Given the description of an element on the screen output the (x, y) to click on. 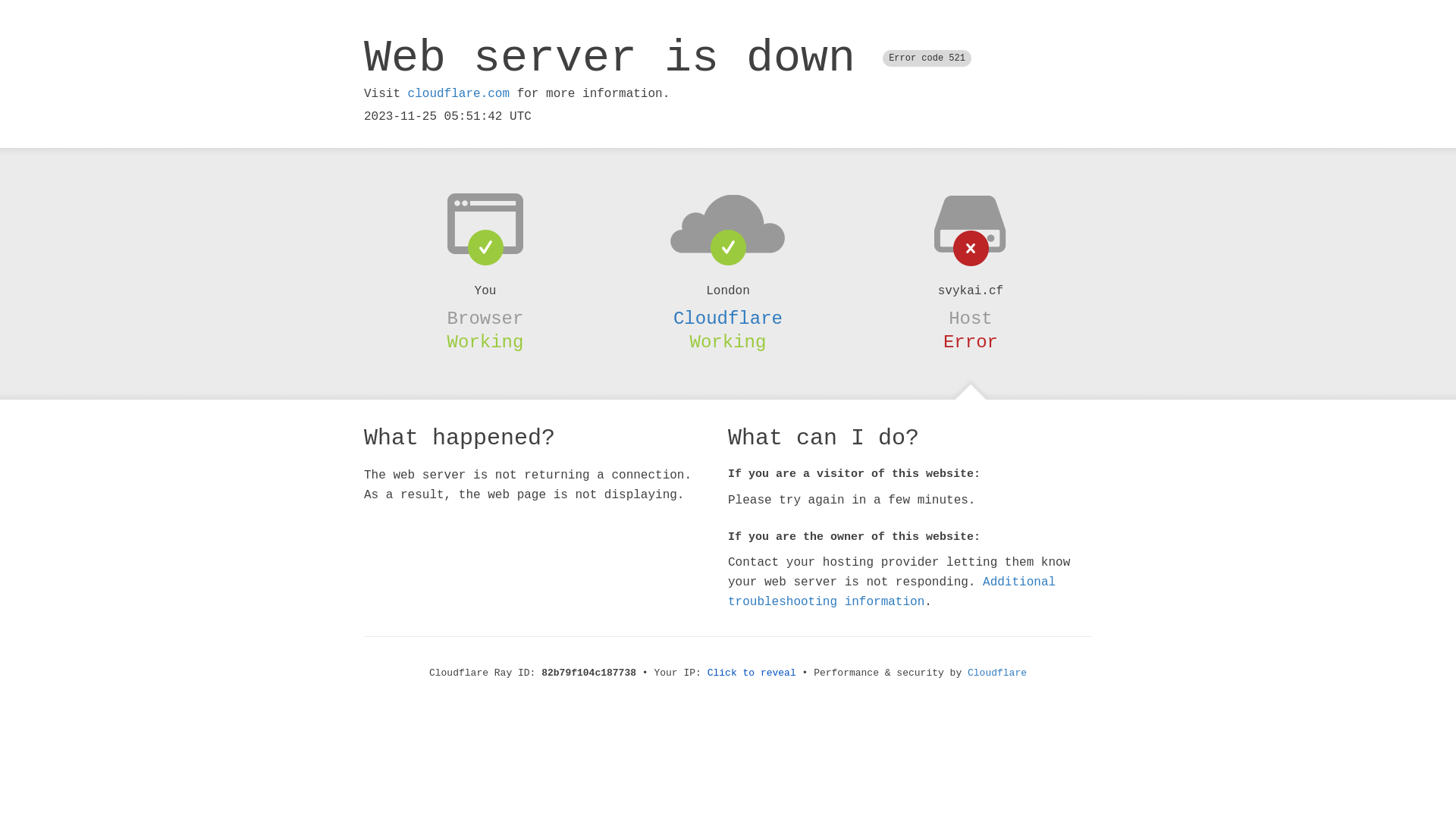
Additional troubleshooting information Element type: text (891, 591)
Click to reveal Element type: text (751, 672)
Cloudflare Element type: text (727, 318)
Cloudflare Element type: text (996, 672)
cloudflare.com Element type: text (458, 93)
